Given the description of an element on the screen output the (x, y) to click on. 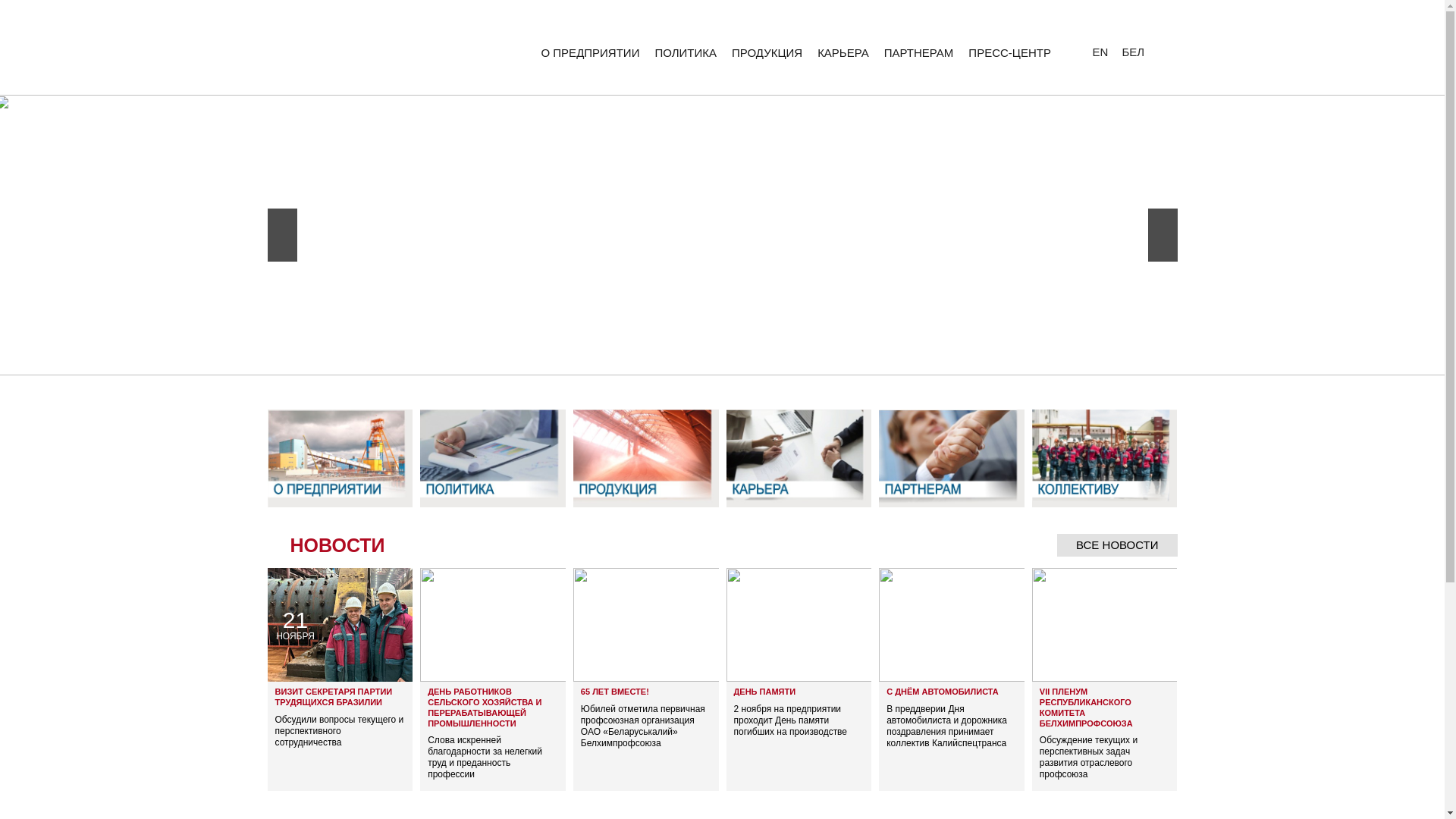
EN Element type: text (1102, 51)
